Given the description of an element on the screen output the (x, y) to click on. 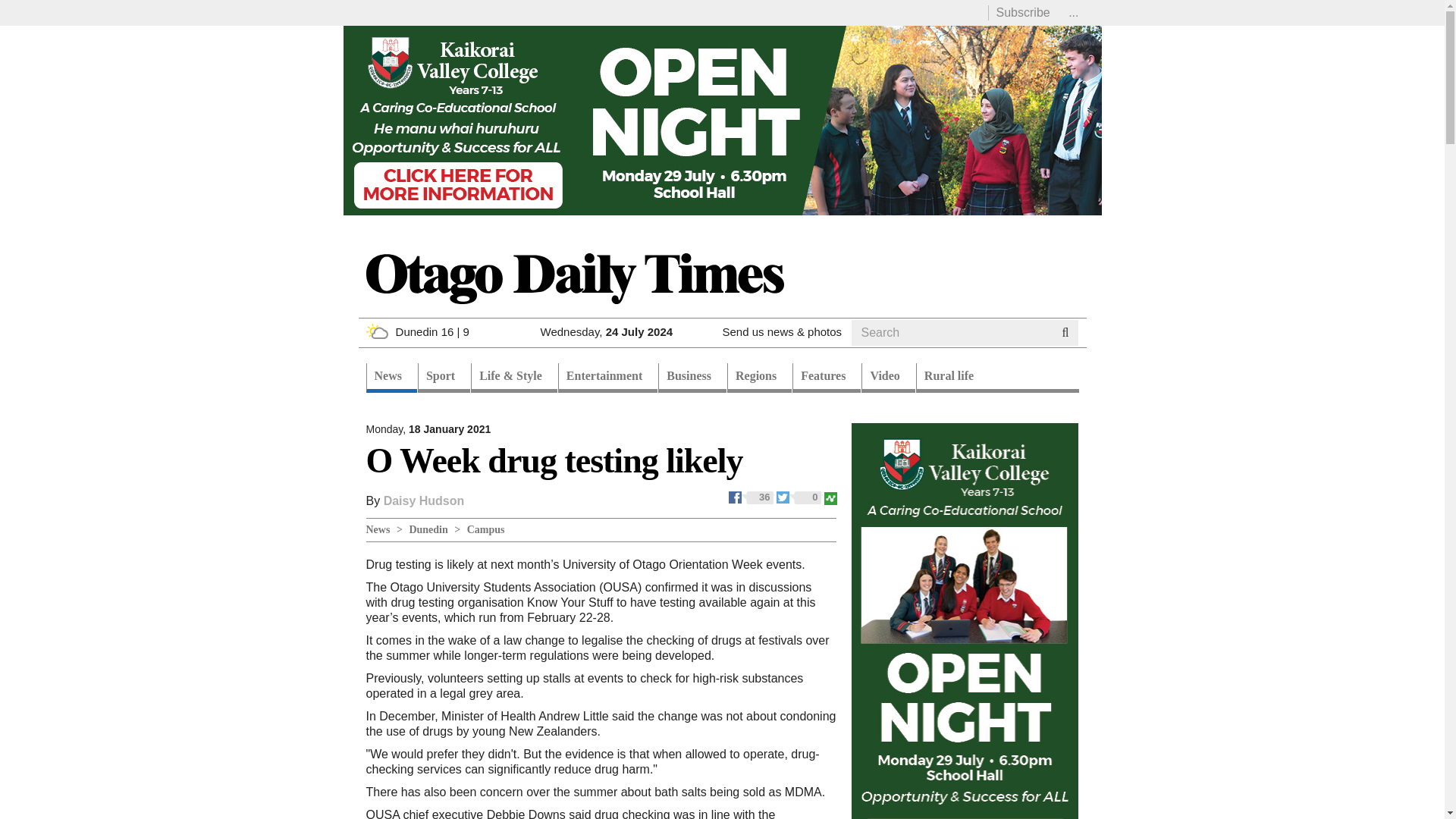
Twitter (800, 495)
ShareThis (829, 495)
Partly cloudy (376, 331)
Home (574, 277)
Facebook (752, 495)
Sport (443, 378)
Subscribe (1022, 11)
Enter the terms you wish to search for. (951, 332)
News (390, 378)
Search (879, 350)
